Given the description of an element on the screen output the (x, y) to click on. 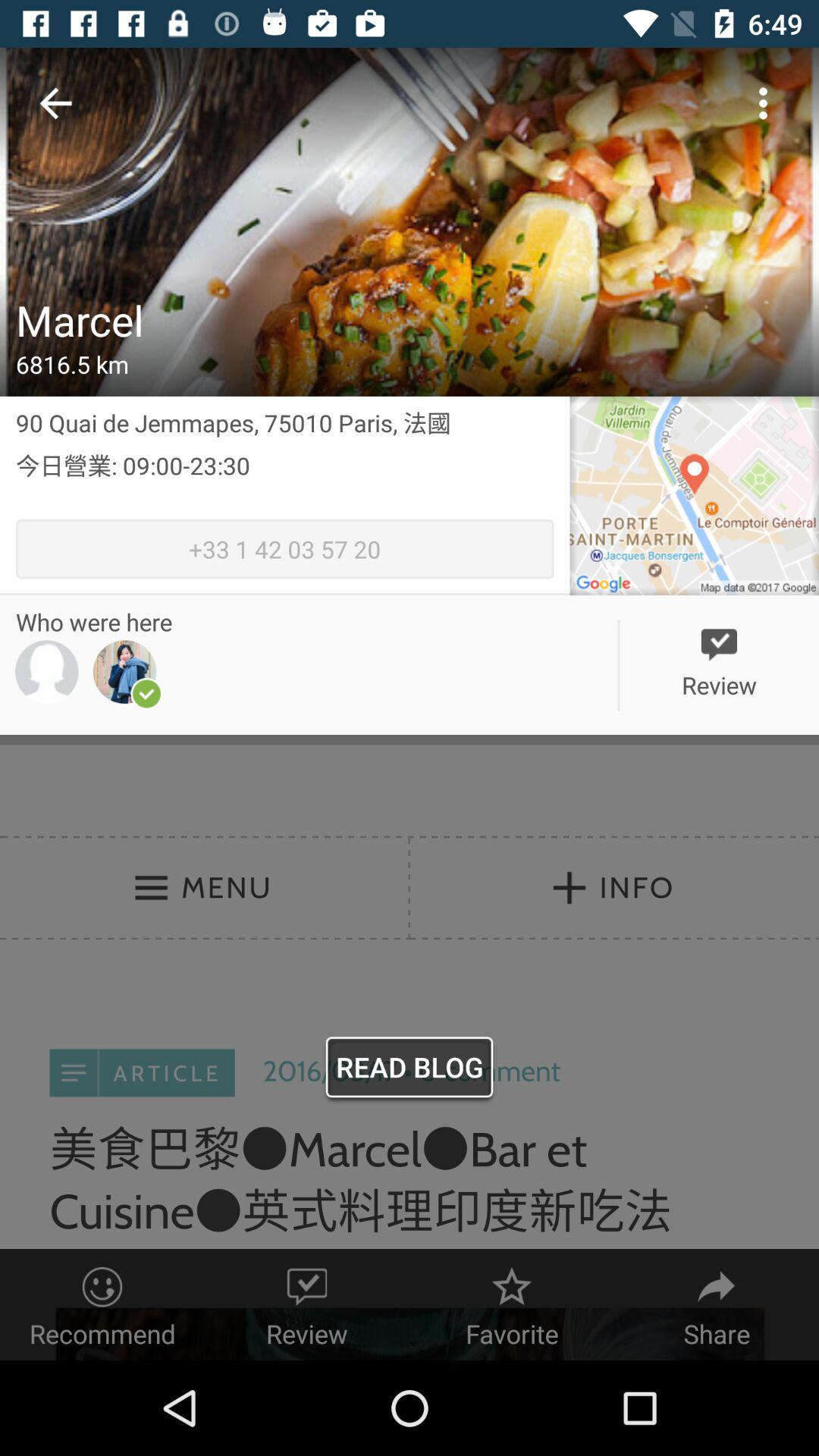
turn on item below 90 quai de item (284, 484)
